Given the description of an element on the screen output the (x, y) to click on. 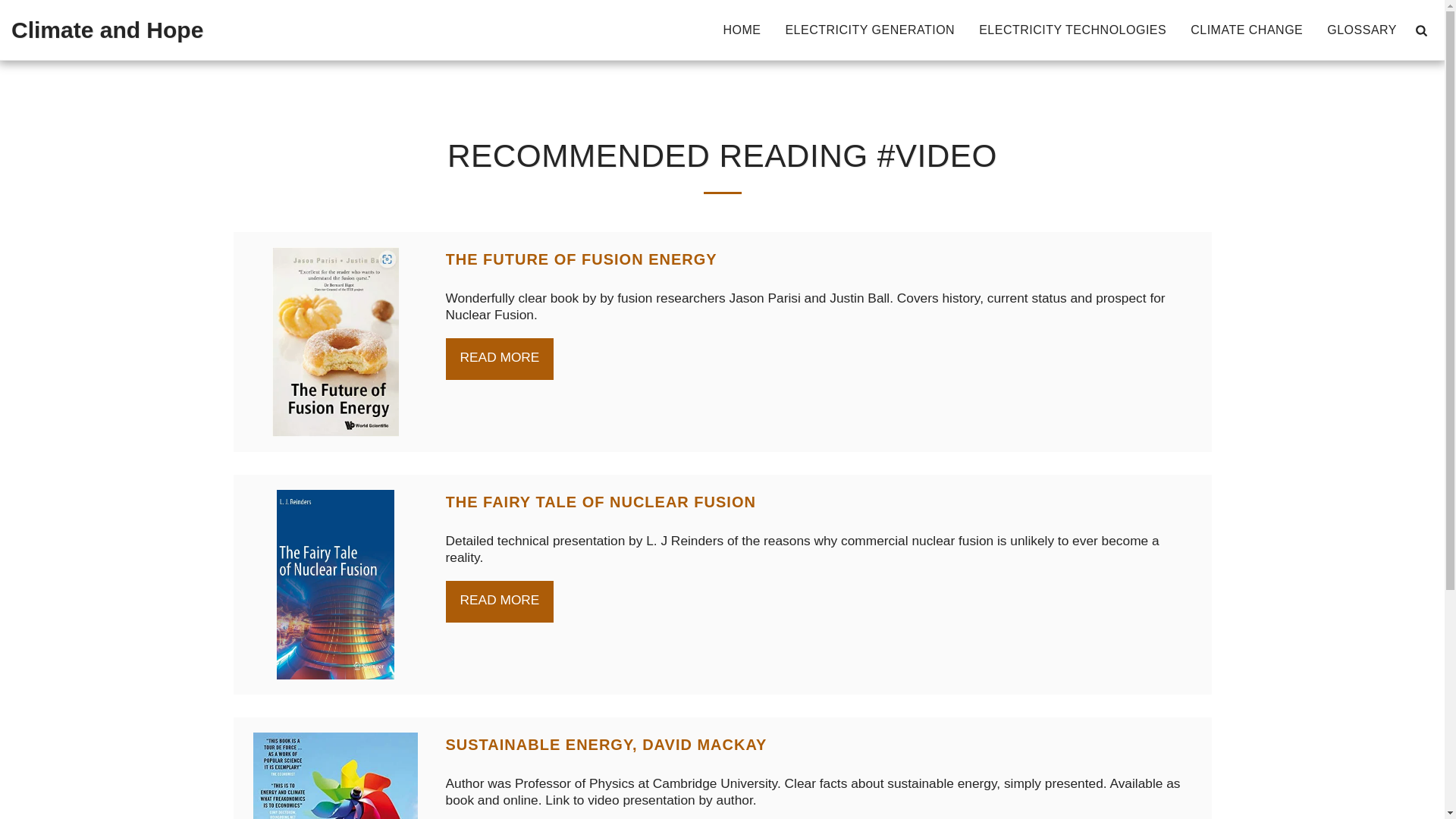
THE FUTURE OF FUSION ENERGY (581, 258)
CLIMATE CHANGE (1246, 30)
SUSTAINABLE ENERGY, DAVID MACKAY (606, 744)
ELECTRICITY GENERATION (869, 30)
READ MORE (499, 601)
GLOSSARY (1361, 30)
THE FAIRY TALE OF NUCLEAR FUSION (600, 501)
READ MORE (499, 359)
ELECTRICITY TECHNOLOGIES (1072, 30)
Climate and Hope (107, 30)
HOME (741, 30)
